Given the description of an element on the screen output the (x, y) to click on. 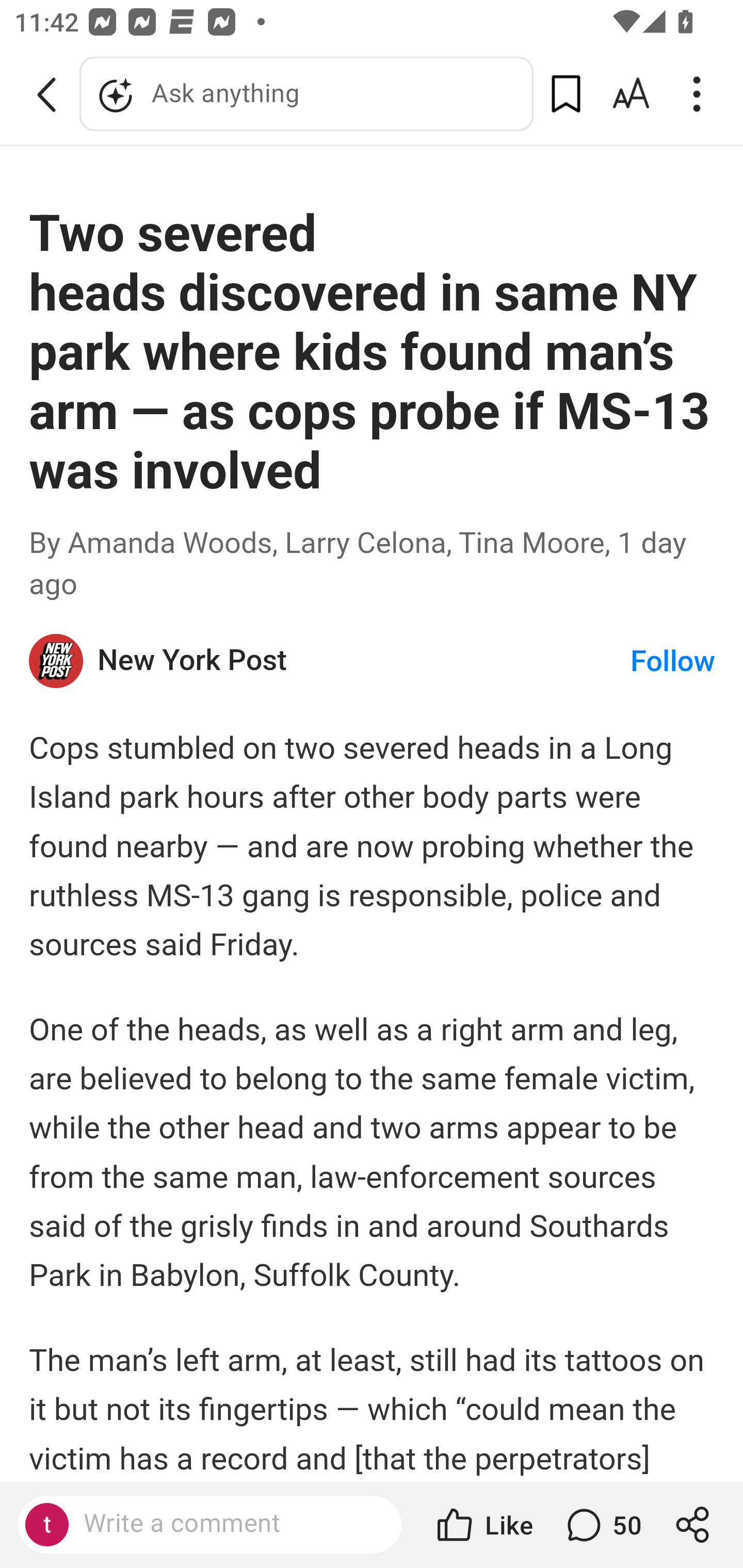
Ask anything (306, 93)
New (56, 661)
New York Post (364, 660)
Follow (673, 660)
Like (483, 1524)
50 (601, 1524)
Write a comment (226, 1523)
